Given the description of an element on the screen output the (x, y) to click on. 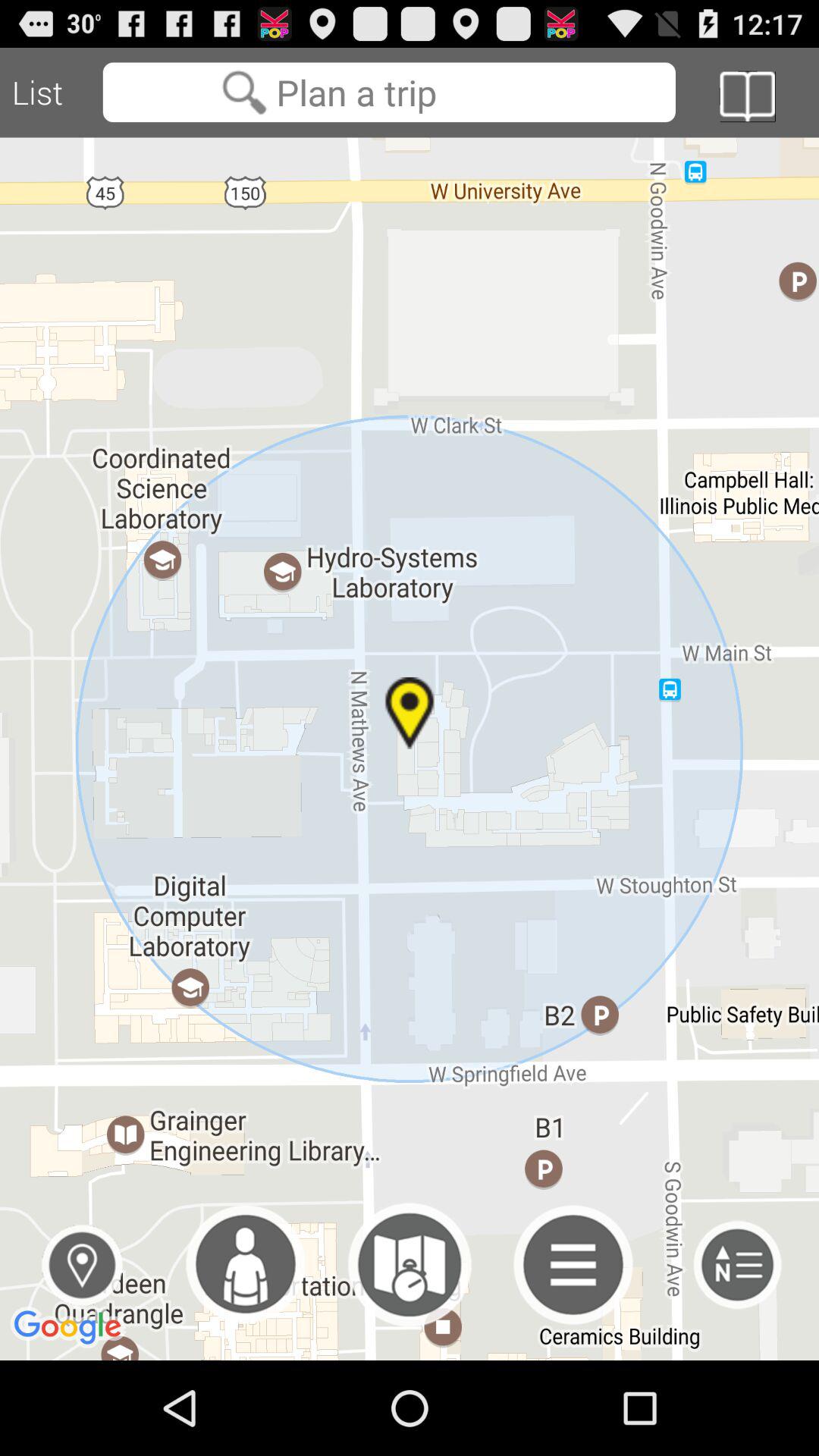
turn off the list item (51, 92)
